Given the description of an element on the screen output the (x, y) to click on. 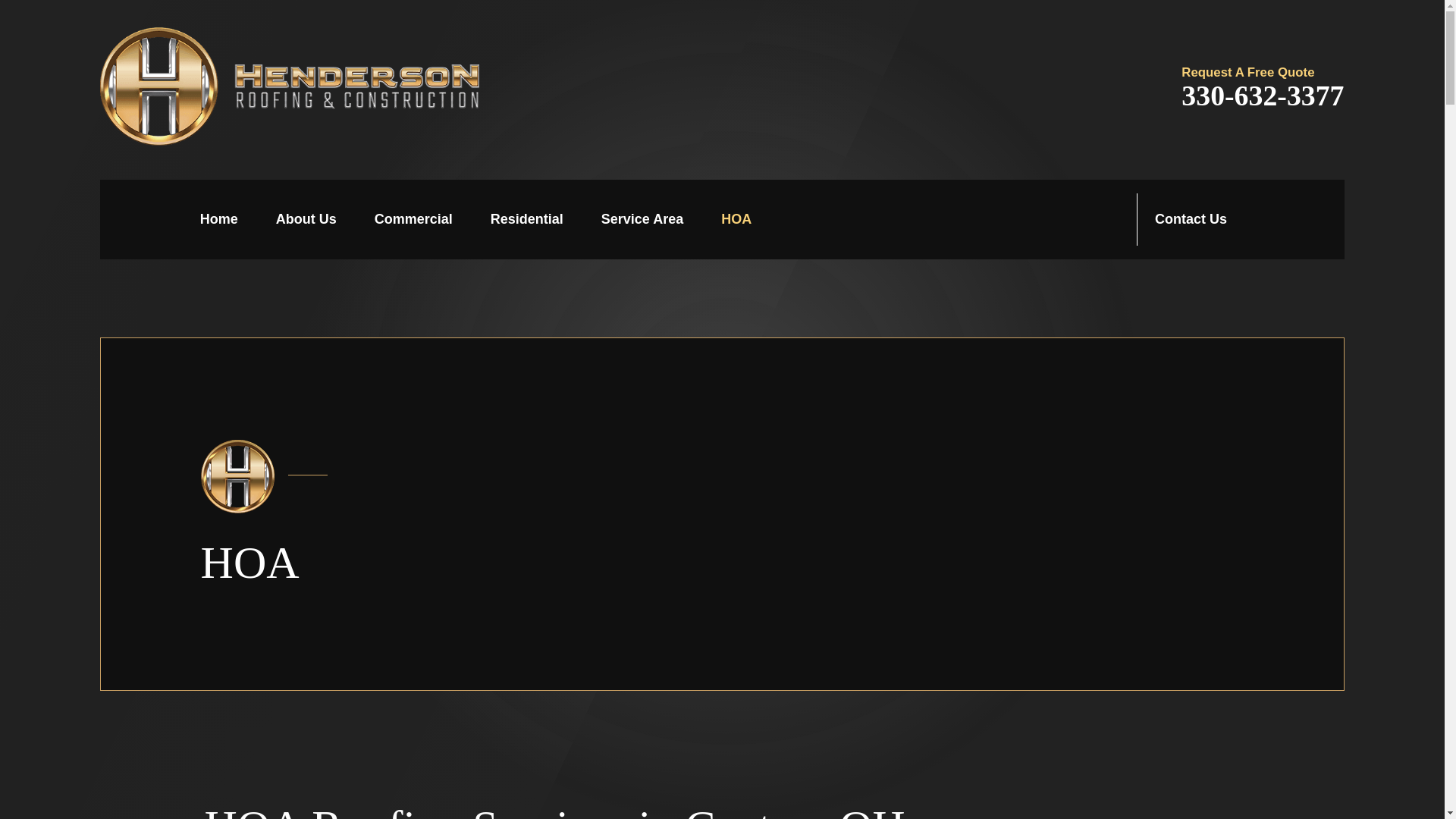
Home (289, 86)
Home (219, 219)
Contact Us (1190, 218)
Service Area (641, 219)
Residential (526, 219)
Commercial (413, 219)
About Us (306, 219)
330-632-3377 (1261, 95)
HOA (735, 219)
